Given the description of an element on the screen output the (x, y) to click on. 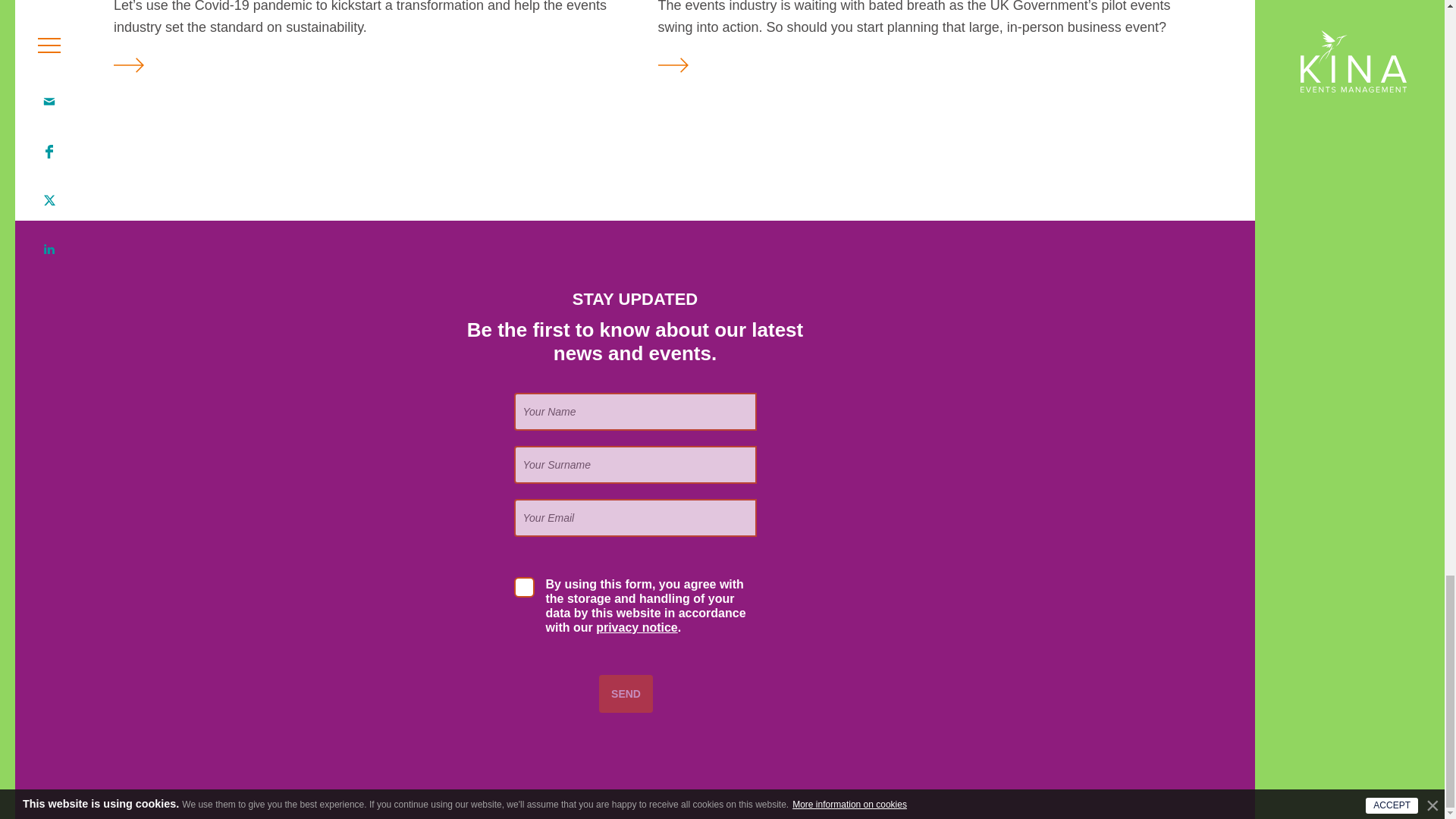
SEND (625, 693)
